Given the description of an element on the screen output the (x, y) to click on. 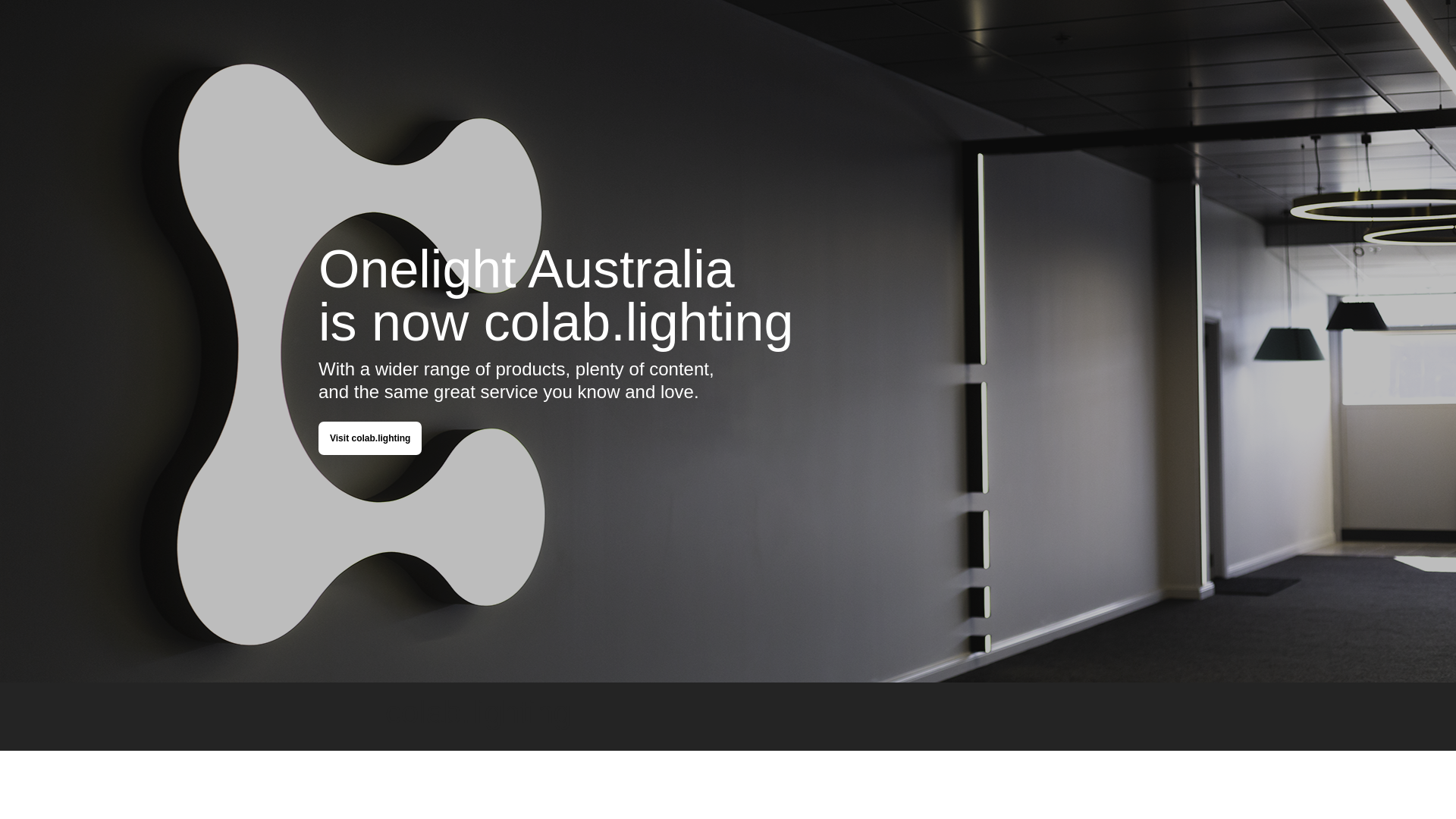
Visit colab.lighting Element type: text (369, 438)
